Given the description of an element on the screen output the (x, y) to click on. 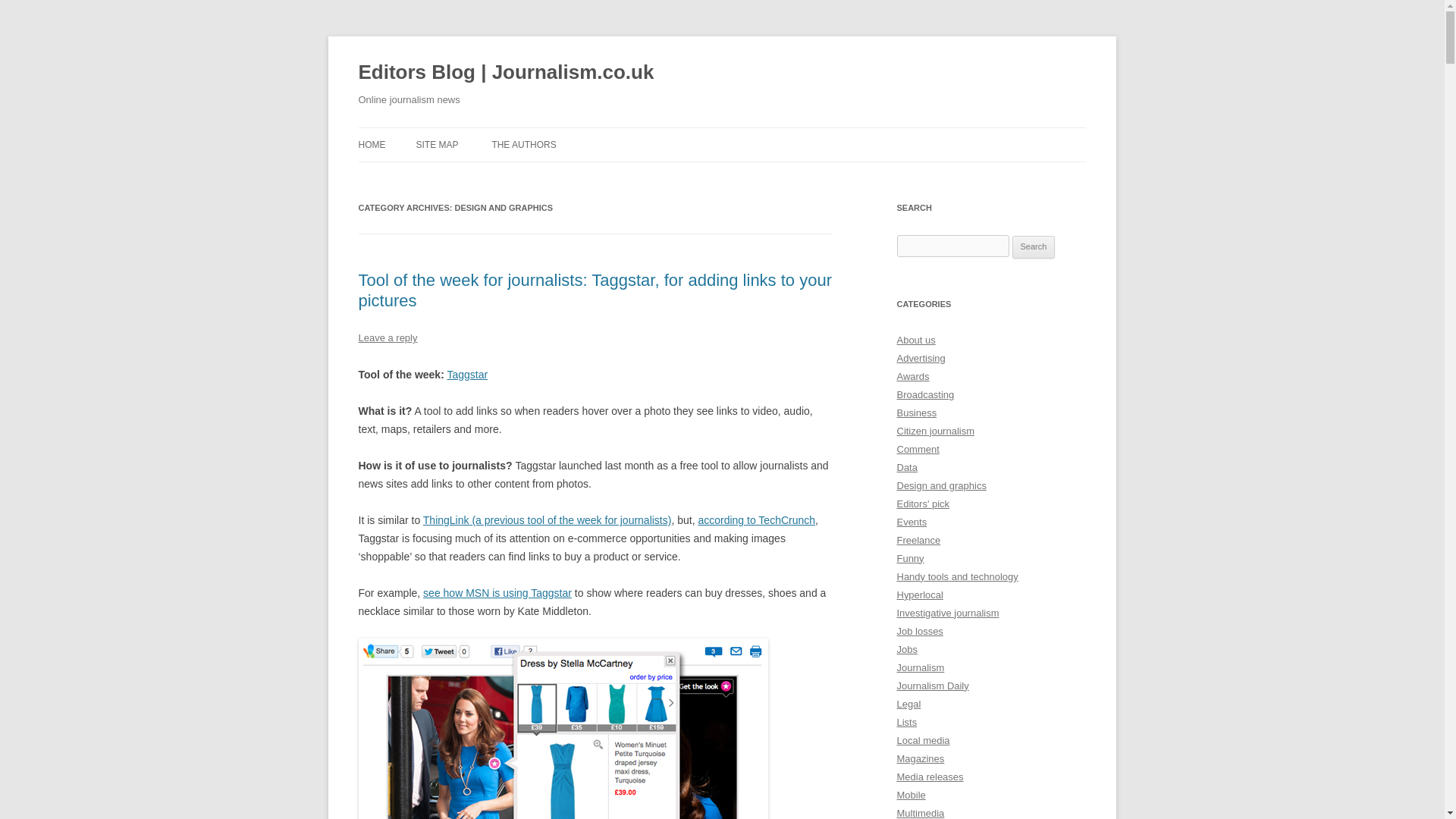
SITE MAP (436, 144)
Journalism.co.uk (547, 520)
according to TechCrunch (756, 520)
THE AUTHORS (524, 144)
TechCrunch (756, 520)
Taggstar (466, 374)
Kate-Middleton (562, 728)
Search (1033, 246)
